Given the description of an element on the screen output the (x, y) to click on. 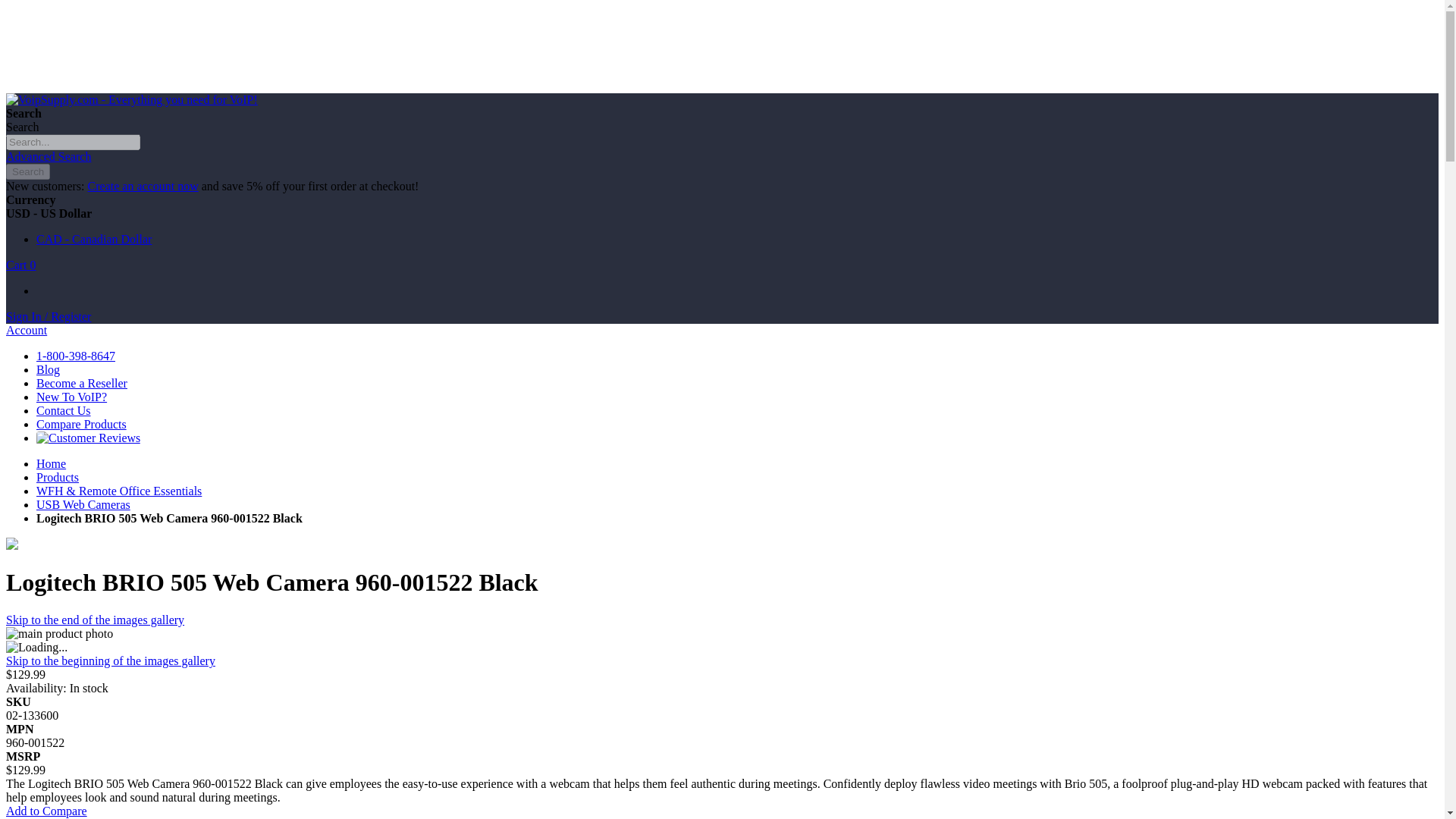
Home (50, 463)
Search (27, 171)
Blog (47, 369)
Add to Compare (46, 810)
1-800-398-8647 (75, 355)
Become a Reseller (82, 382)
Account (25, 329)
Skip to the end of the images gallery (94, 619)
Cart 0 (20, 264)
VoipSupply.com - Everything you need for VoIP! (131, 99)
